Given the description of an element on the screen output the (x, y) to click on. 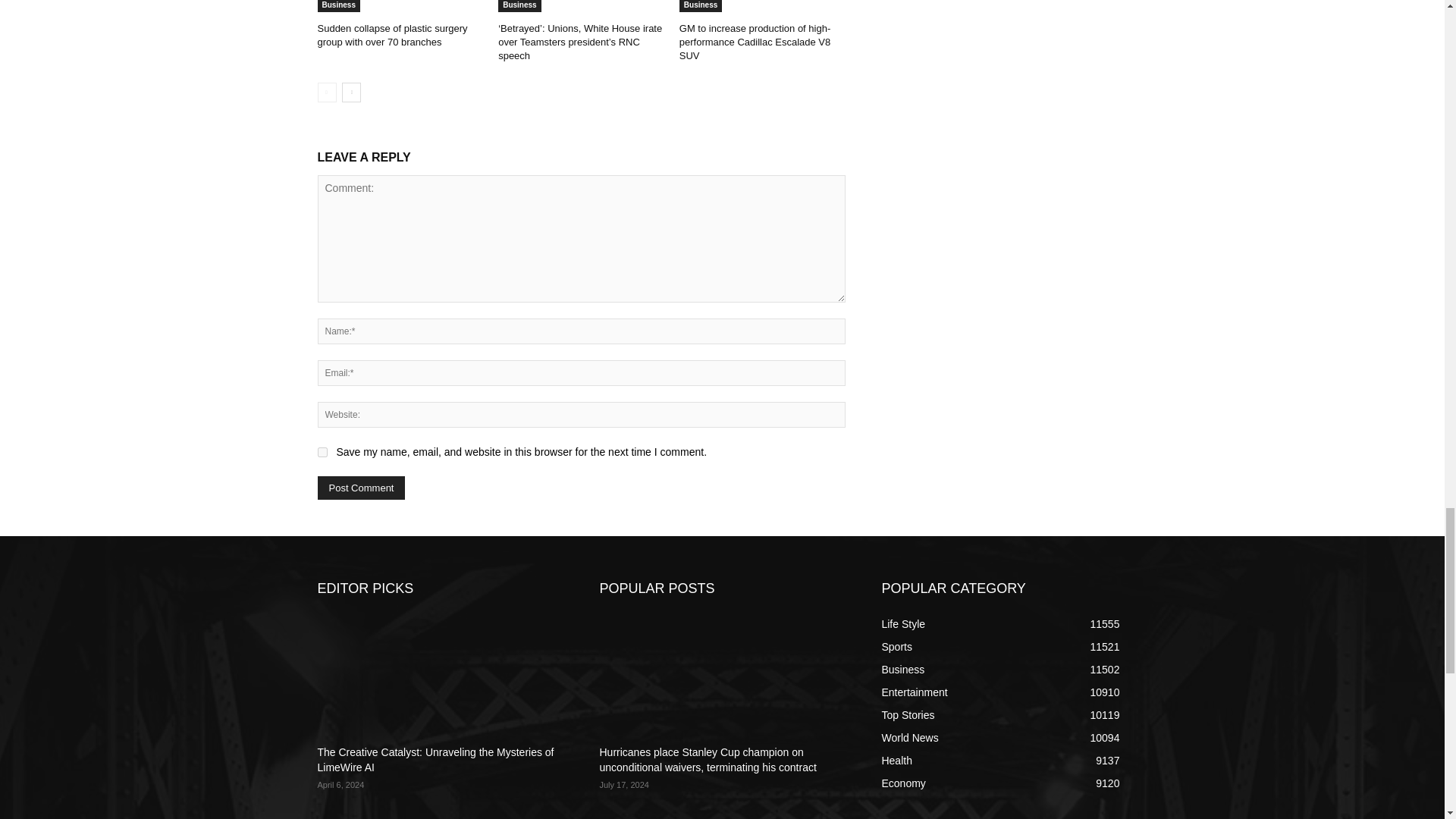
Post Comment (360, 487)
yes (321, 452)
